Given the description of an element on the screen output the (x, y) to click on. 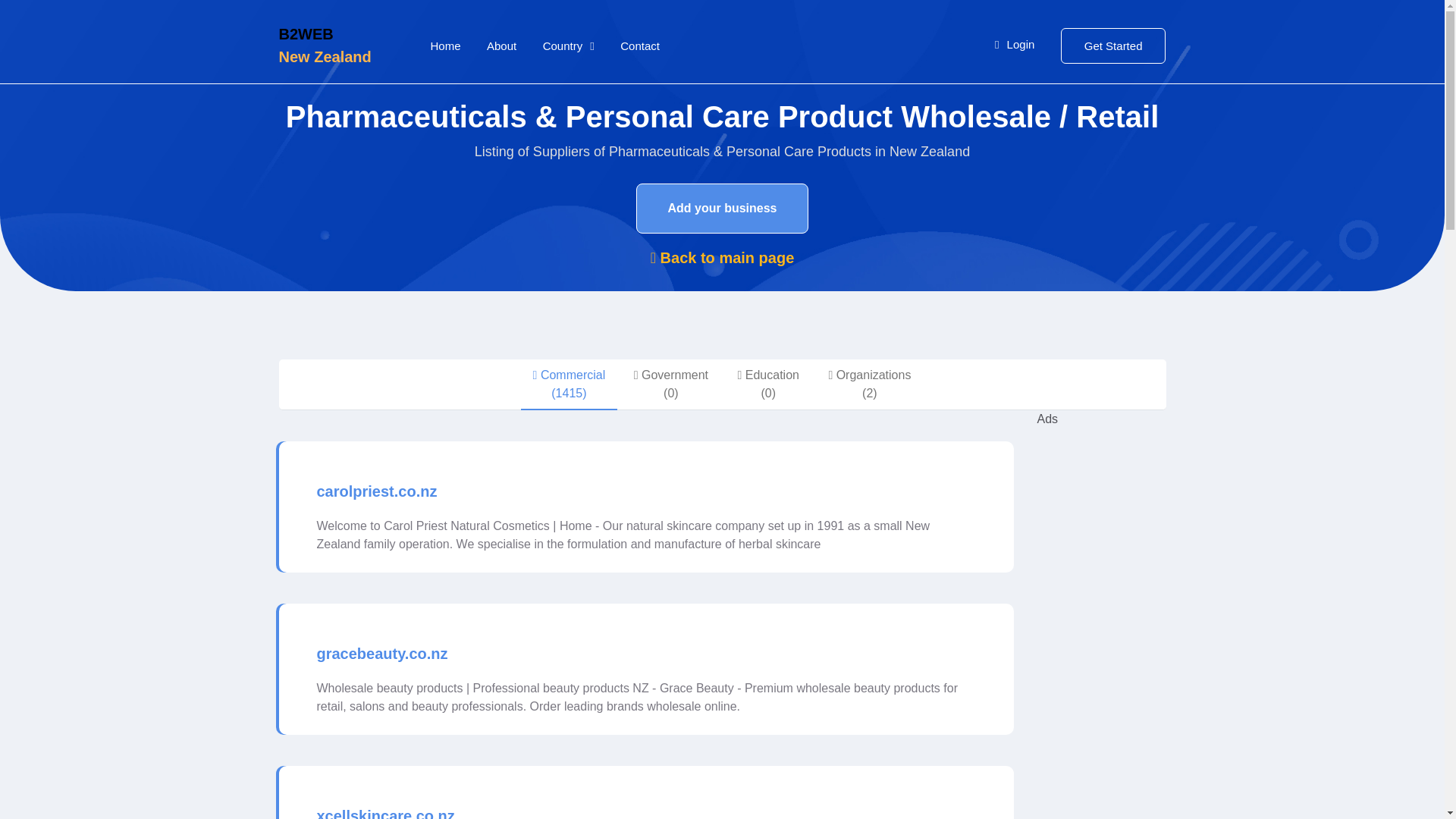
carolpriest.co.nz (377, 491)
Get Started (1113, 45)
Contact (639, 45)
gracebeauty.co.nz (382, 653)
Login (1013, 45)
Home (445, 45)
xcellskincare.co.nz (385, 811)
Add your business (722, 208)
Country (568, 45)
B2WEB New Zealand (343, 44)
Back to main page (722, 257)
